Given the description of an element on the screen output the (x, y) to click on. 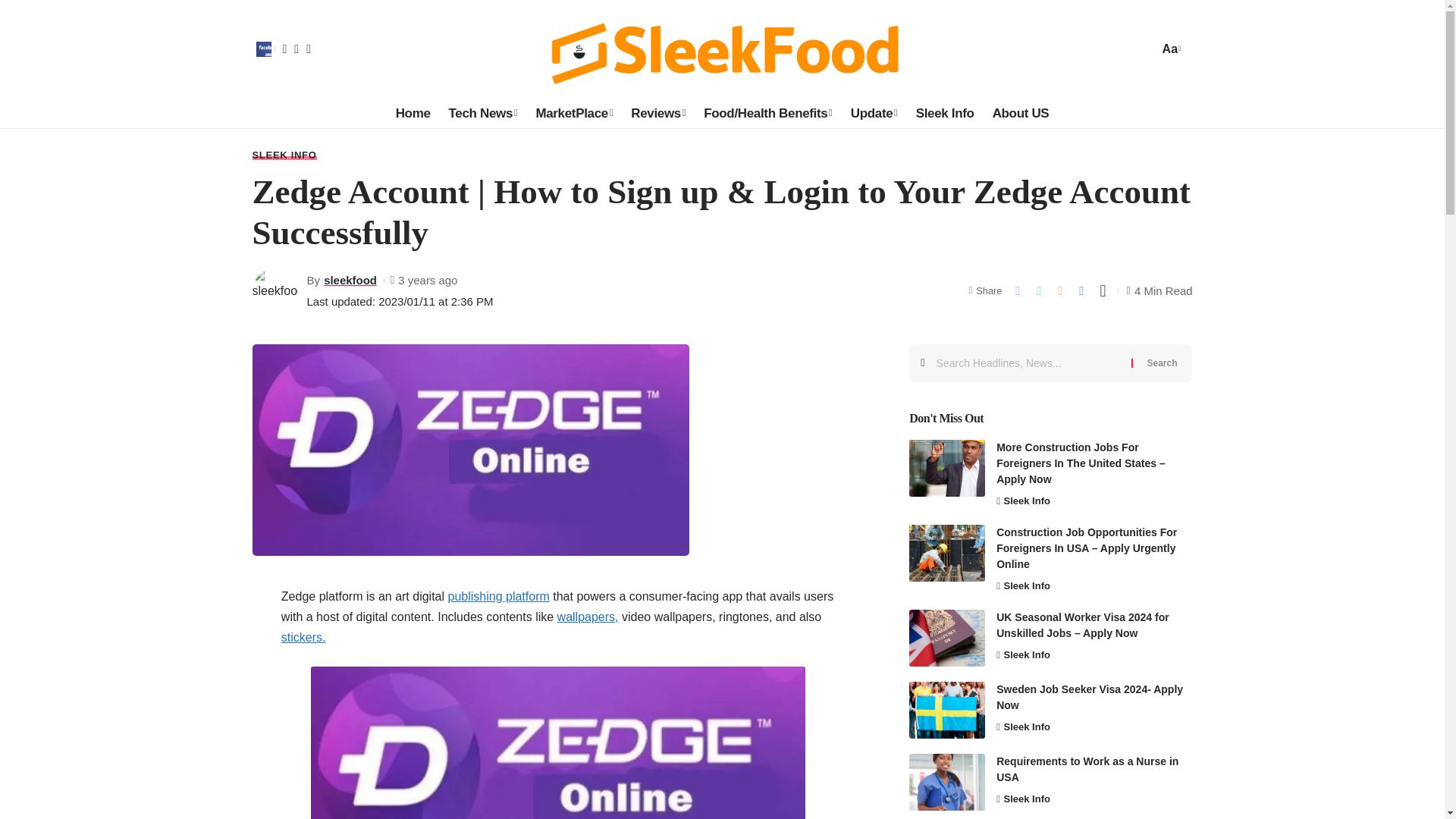
Reviews (657, 113)
Search (1161, 362)
Tech News (483, 113)
MarketPlace (573, 113)
SLEEK-FOOD (721, 48)
Aa (1169, 48)
Home (413, 113)
